Given the description of an element on the screen output the (x, y) to click on. 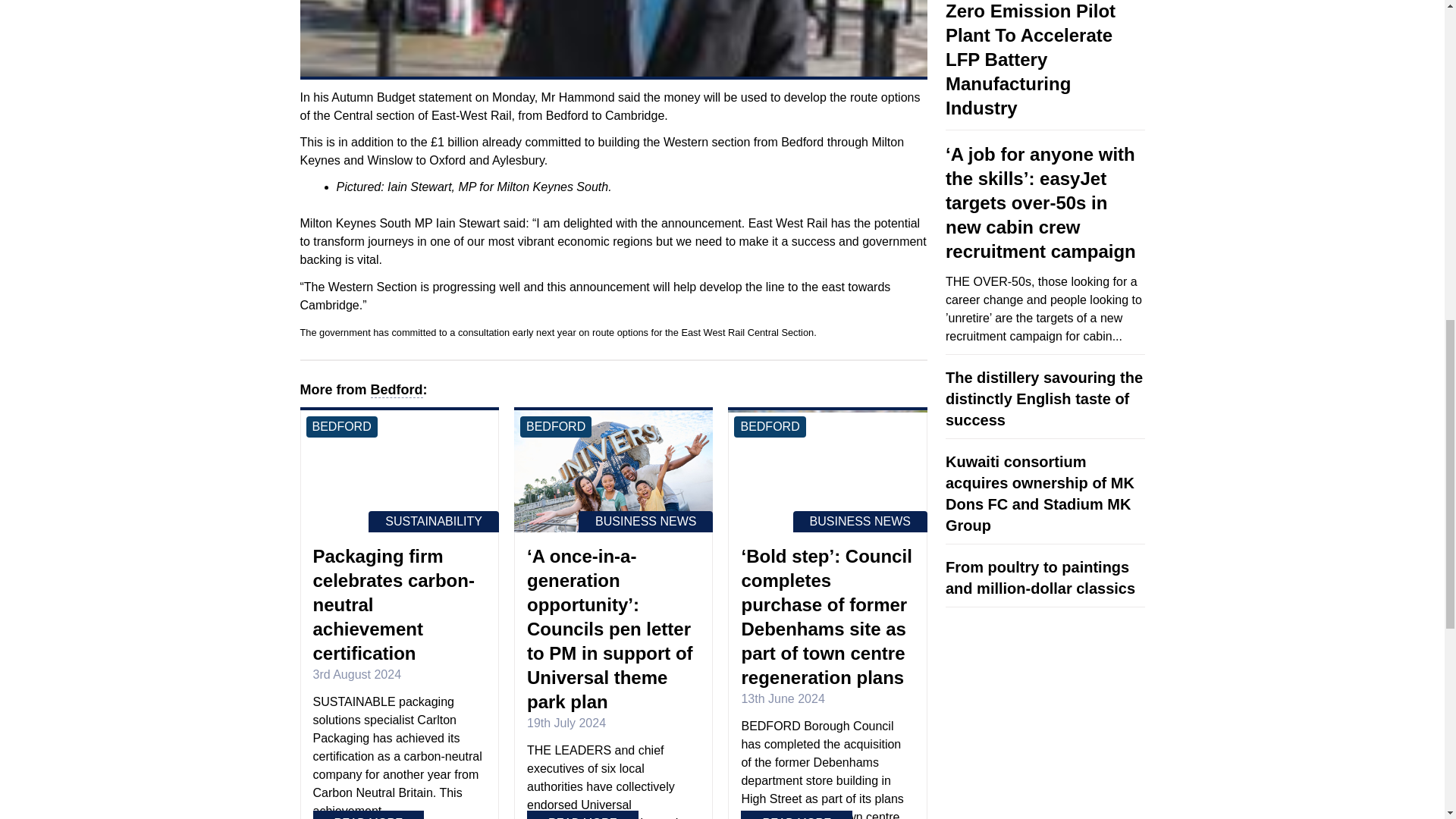
See all sustainability (433, 521)
See all  (910, 77)
See all bedford (555, 426)
See all business news (645, 521)
See all bedford (341, 426)
